Given the description of an element on the screen output the (x, y) to click on. 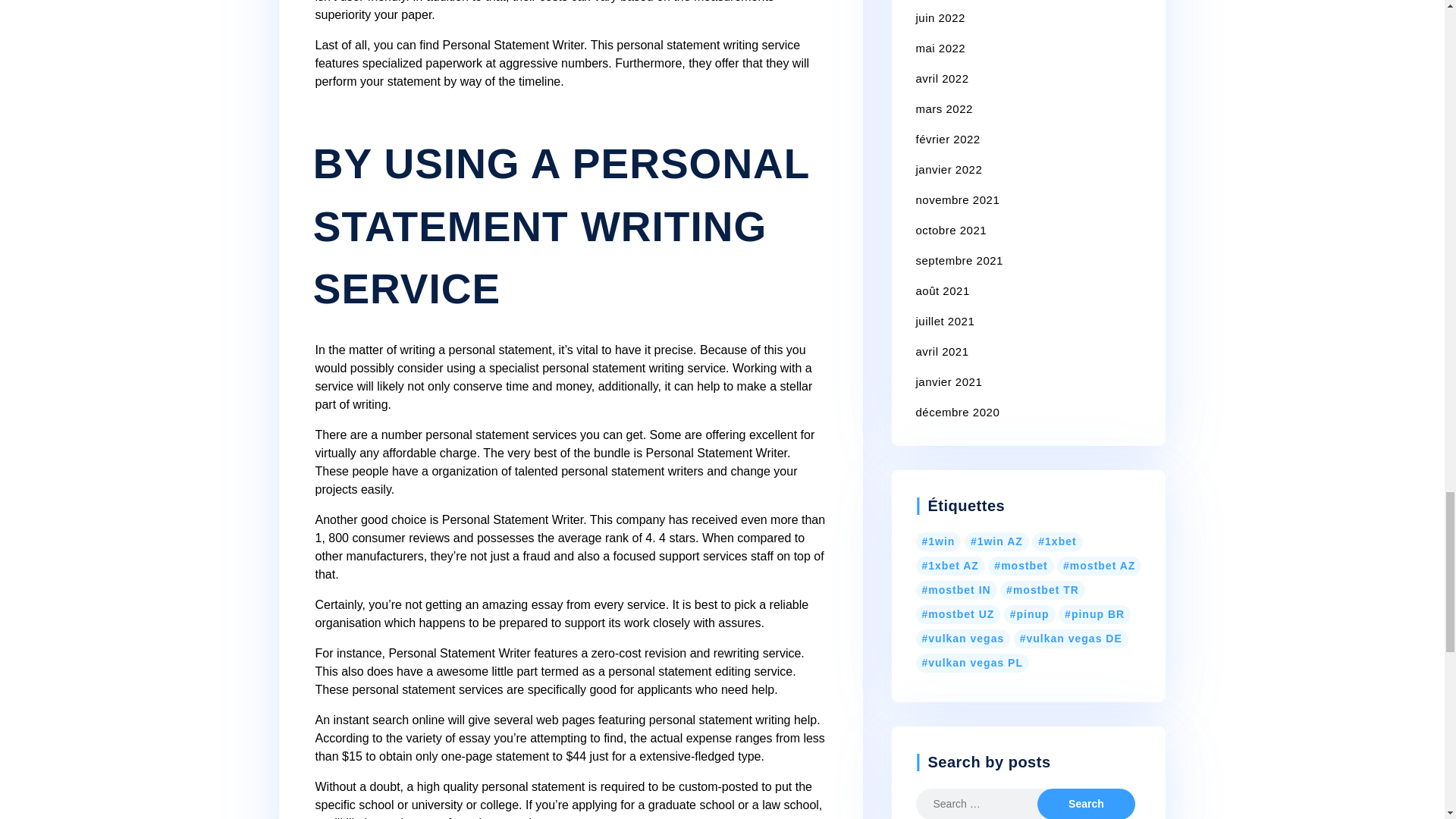
Search (1085, 803)
Search for: (988, 803)
Search (1085, 803)
